Given the description of an element on the screen output the (x, y) to click on. 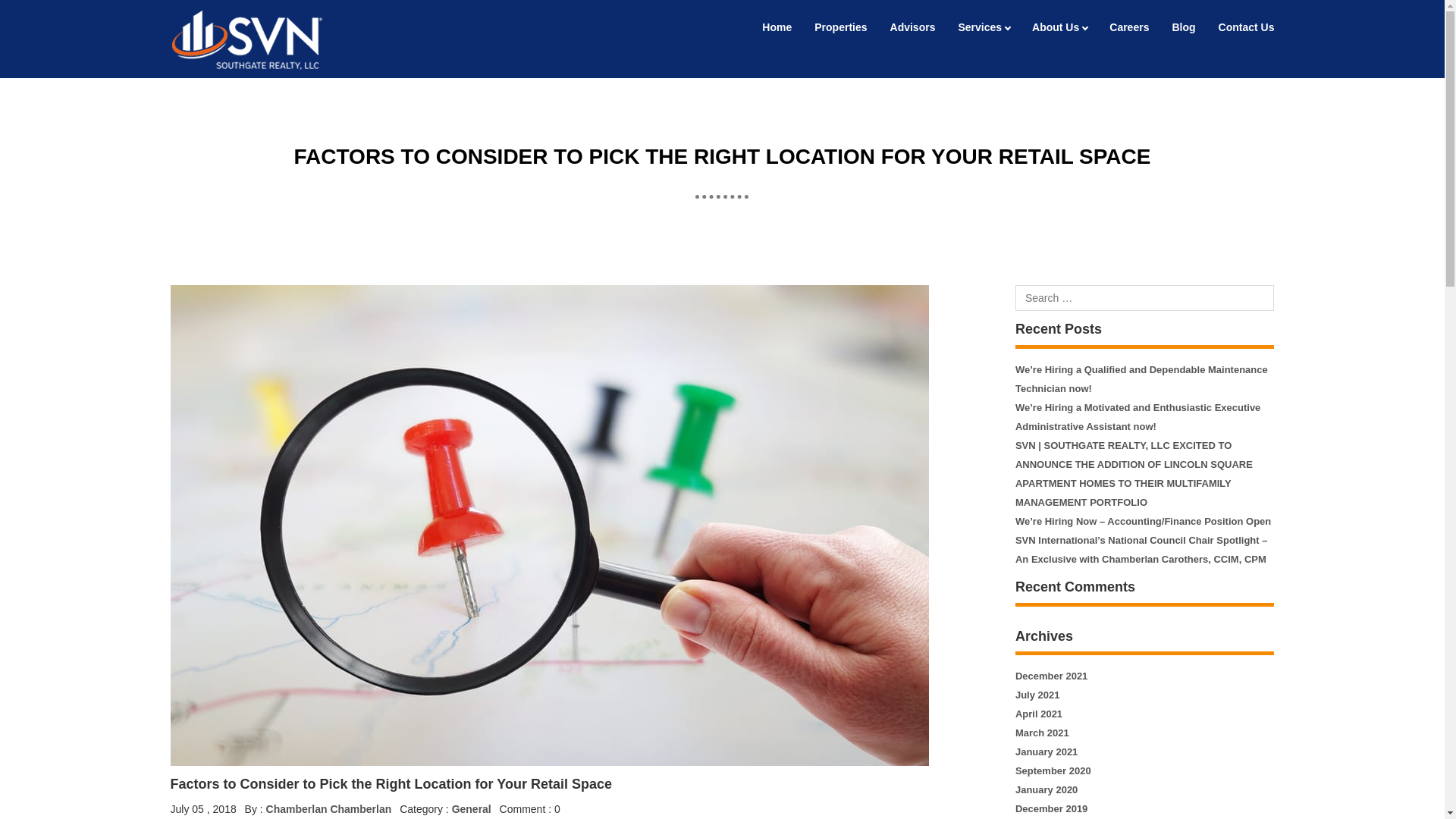
Careers (1128, 27)
March 2021 (1041, 732)
Contact Us (1246, 27)
Properties (840, 27)
Services (983, 27)
Advisors (913, 27)
January 2021 (1045, 751)
Chamberlan Chamberlan (328, 808)
July 2021 (1036, 695)
About Us (1058, 27)
